Given the description of an element on the screen output the (x, y) to click on. 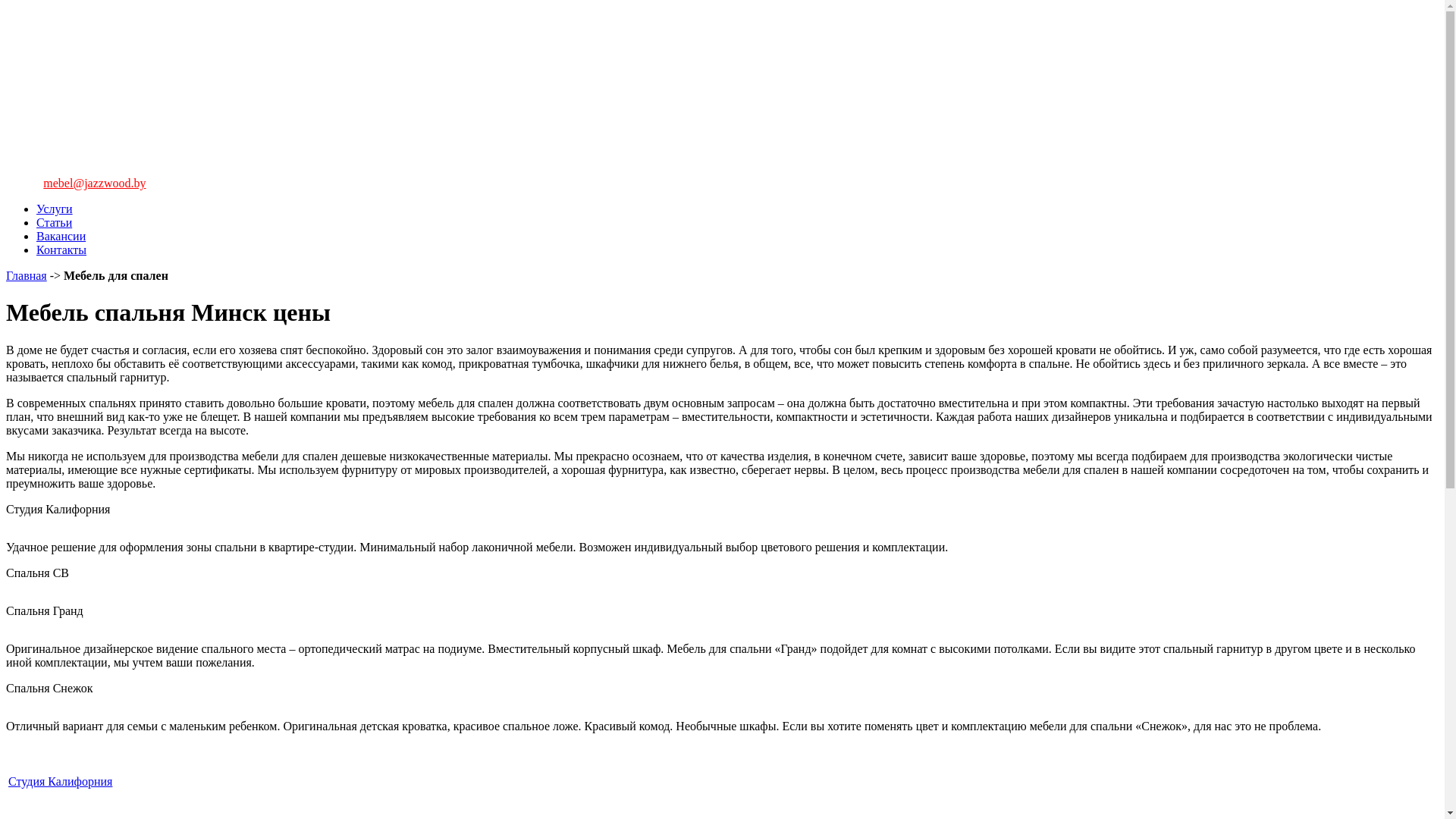
mebel@jazzwood.by Element type: text (94, 182)
